Given the description of an element on the screen output the (x, y) to click on. 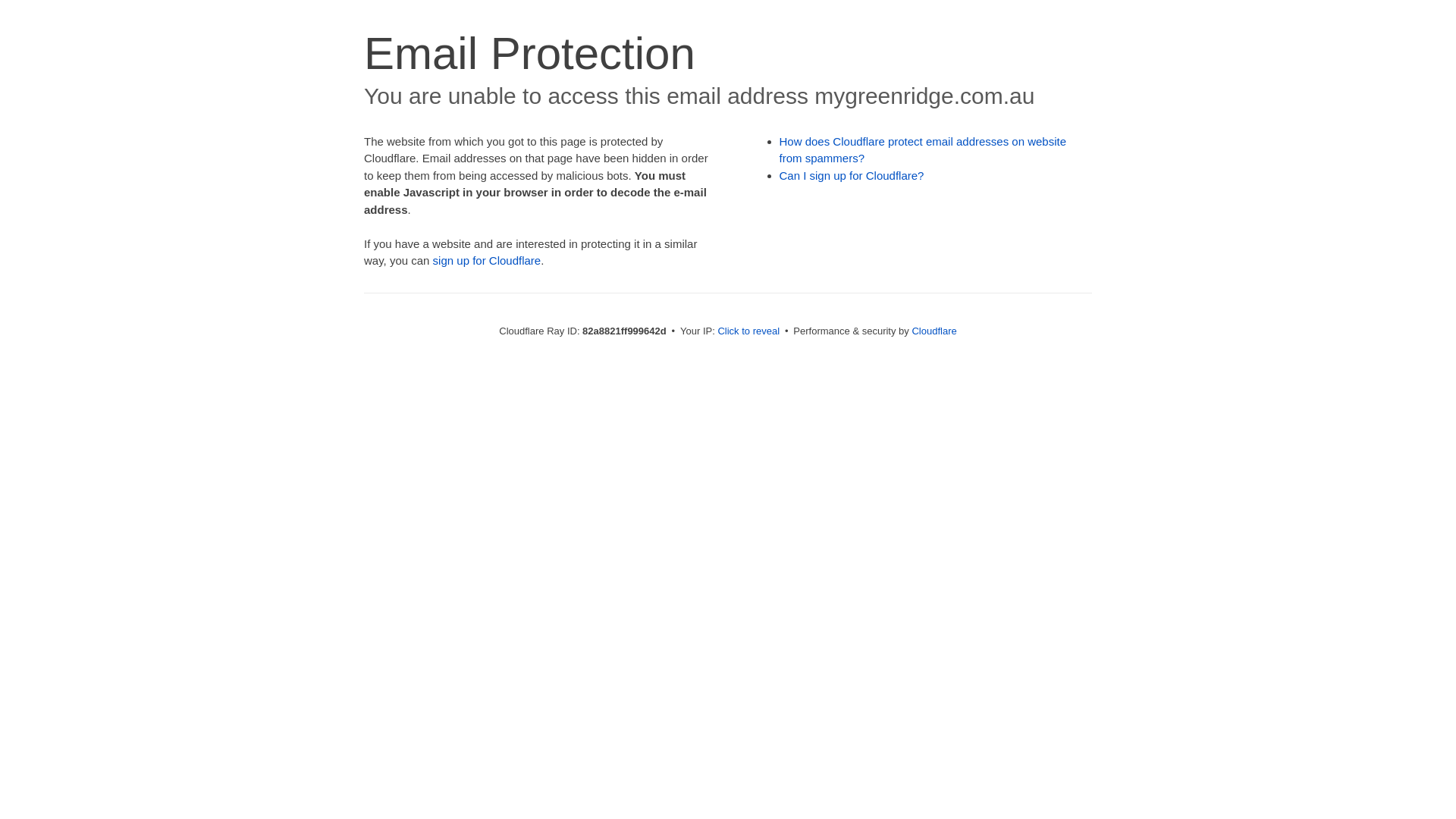
Cloudflare Element type: text (933, 330)
sign up for Cloudflare Element type: text (487, 260)
Click to reveal Element type: text (748, 330)
Can I sign up for Cloudflare? Element type: text (851, 175)
